Given the description of an element on the screen output the (x, y) to click on. 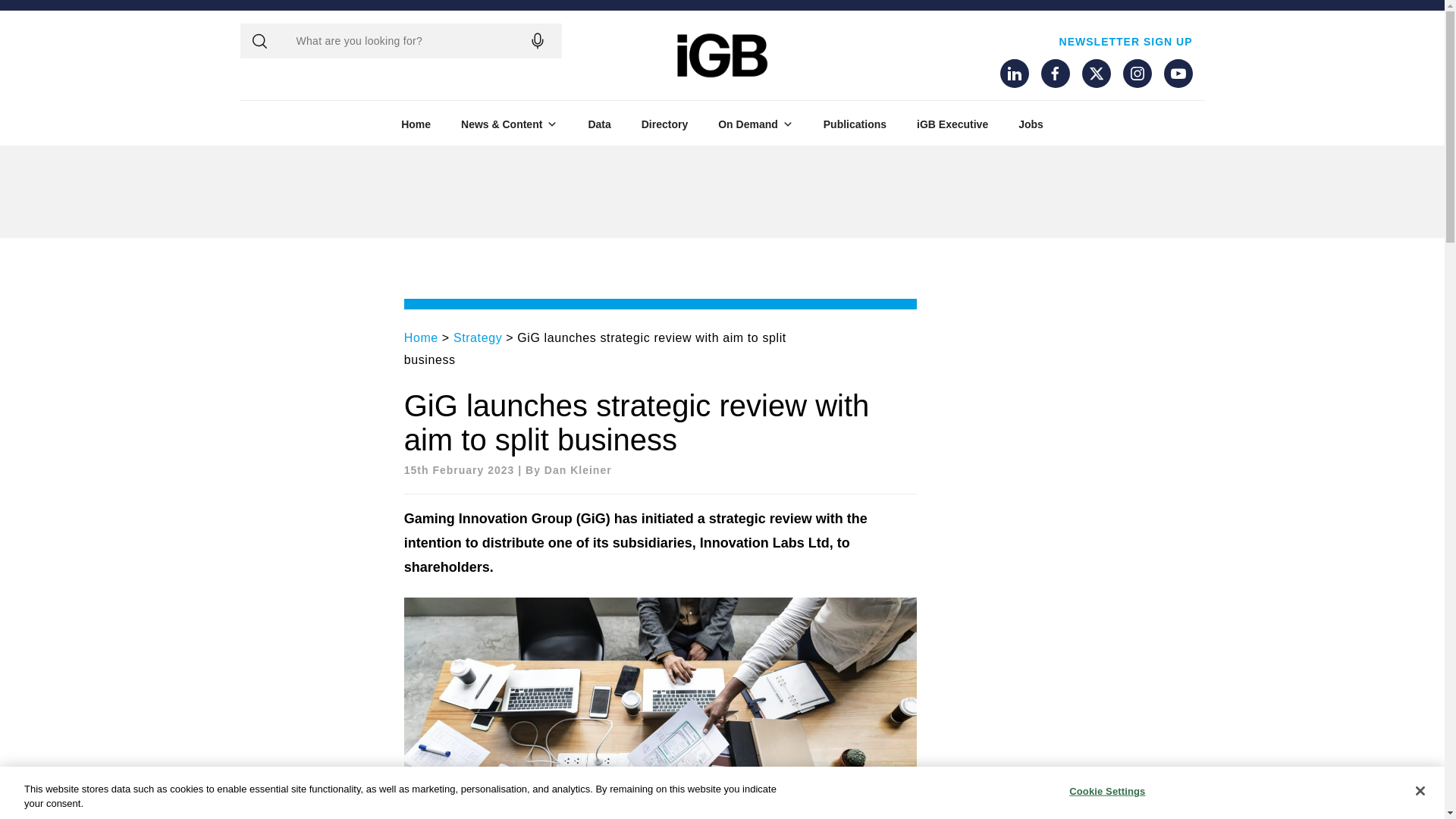
Home (415, 124)
Facebook (1054, 72)
Instagram (1136, 72)
YouTube (1177, 72)
LinkedIn (1012, 72)
Twitter (1095, 72)
3rd party ad content (334, 192)
3rd party ad content (721, 192)
3rd party ad content (1110, 192)
NEWSLETTER SIGN UP (1125, 41)
